Given the description of an element on the screen output the (x, y) to click on. 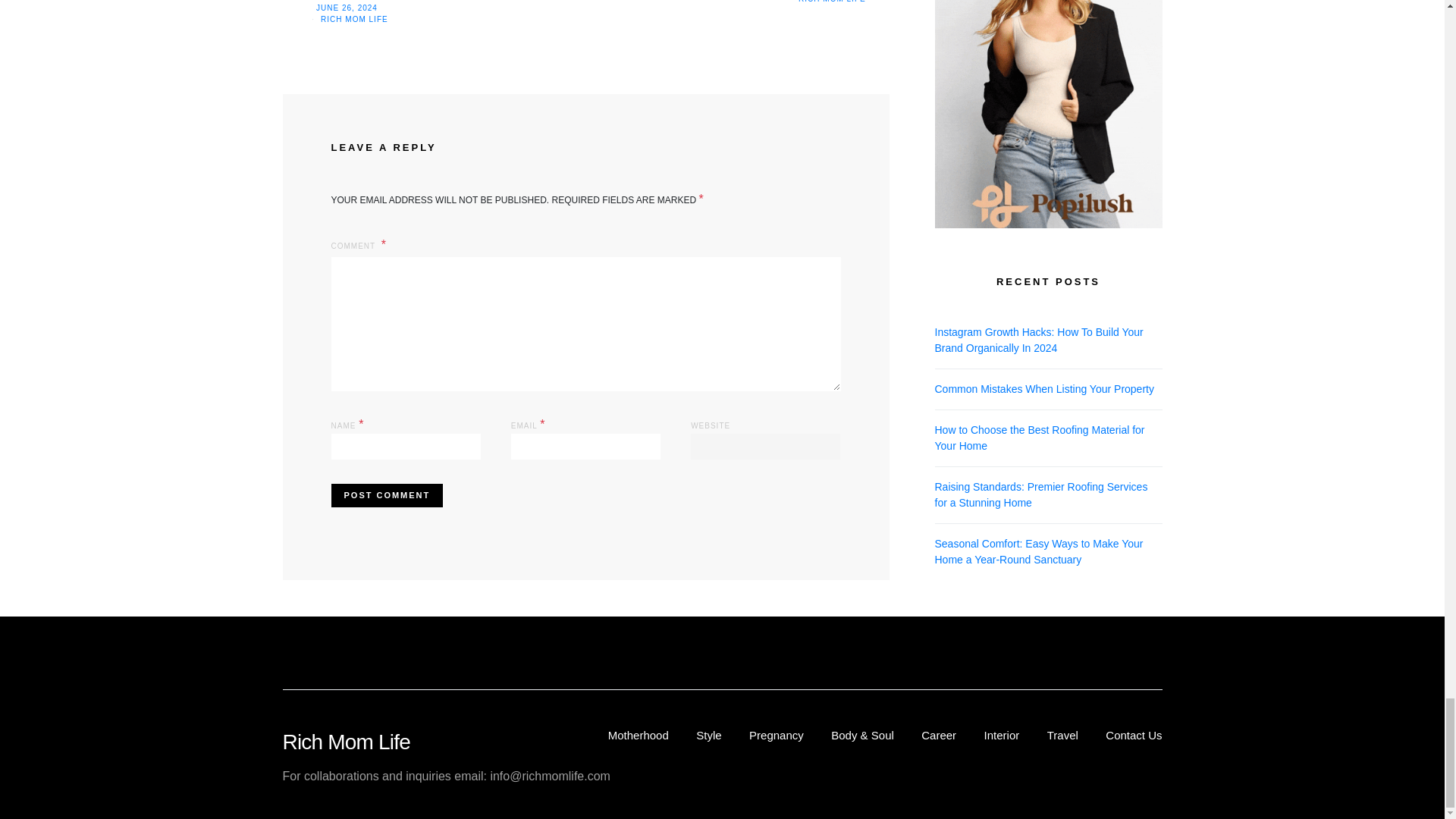
View all posts by Rich Mom Life (354, 19)
View all posts by Rich Mom Life (831, 1)
Post Comment (386, 495)
